Given the description of an element on the screen output the (x, y) to click on. 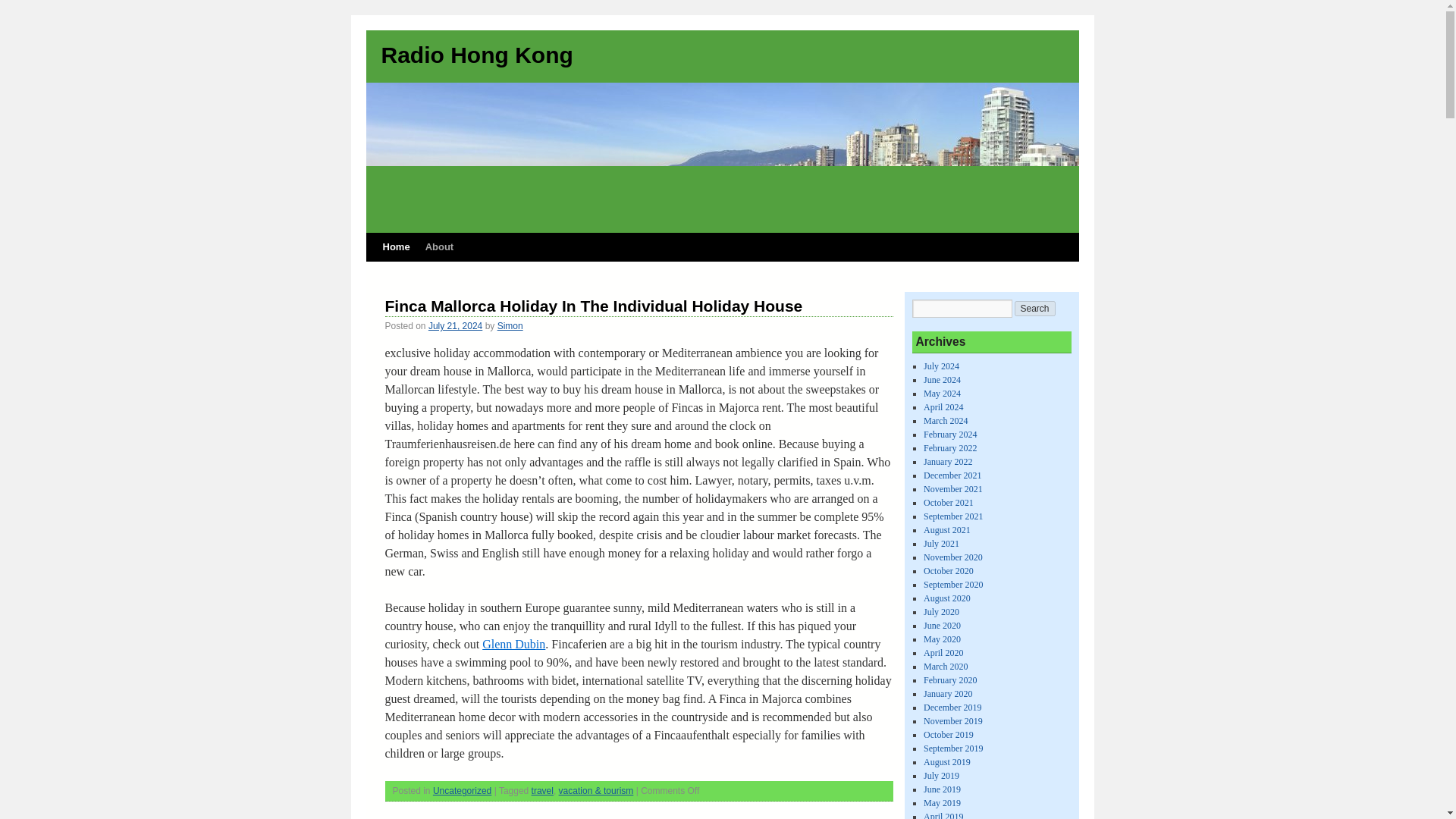
View all posts by Simon (509, 326)
Radio Hong Kong (476, 54)
Uncategorized (462, 790)
About (439, 246)
Radio Hong Kong (476, 54)
travel (542, 790)
July 21, 2024 (454, 326)
Simon (509, 326)
Glenn Dubin (512, 644)
Finca Mallorca Holiday In The Individual Holiday House (594, 305)
9:11 am (454, 326)
Search (1034, 308)
Home (395, 246)
